Given the description of an element on the screen output the (x, y) to click on. 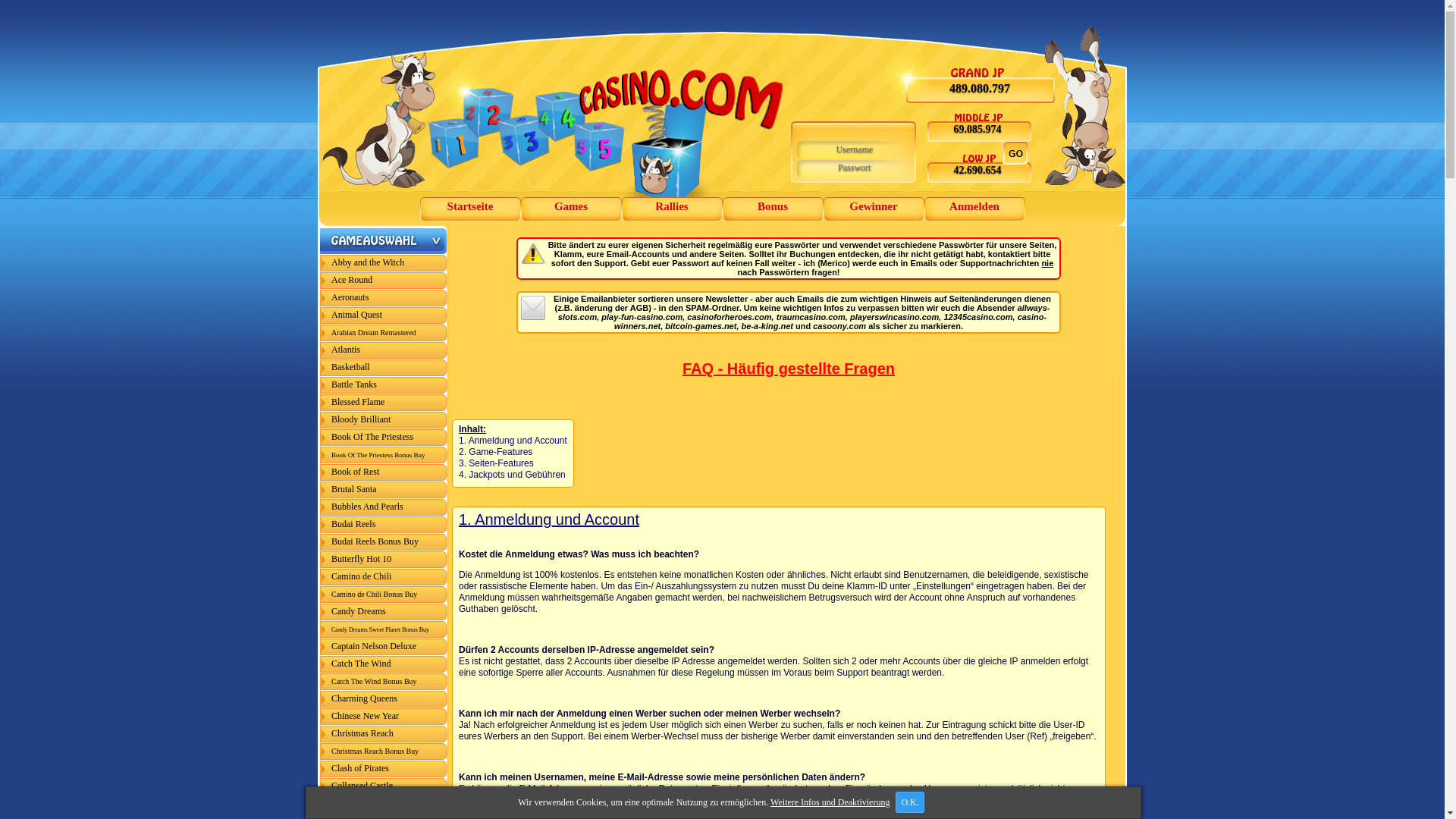
Budai Reels Element type: text (383, 524)
Aeronauts Element type: text (383, 297)
O.K. Element type: text (909, 801)
2. Game-Features Element type: text (495, 451)
Games Element type: text (570, 209)
Budai Reels Bonus Buy Element type: text (383, 541)
Bloody Brilliant Element type: text (383, 419)
Catch The Wind Element type: text (383, 663)
Book Of The Priestess Bonus Buy Element type: text (383, 454)
Arabian Dream Remastered Element type: text (383, 332)
Gewinner Element type: text (873, 209)
Candy Dreams Element type: text (383, 611)
Anmelden Element type: text (973, 209)
Blessed Flame Element type: text (383, 402)
Abby and the Witch Element type: text (383, 262)
Animal Quest Element type: text (383, 315)
Bubbles And Pearls Element type: text (383, 506)
Christmas Reach Element type: text (383, 733)
Charming Queens Element type: text (383, 698)
Catch The Wind Bonus Buy Element type: text (383, 681)
Clash of Pirates Element type: text (383, 768)
Christmas Reach Bonus Buy Element type: text (383, 751)
Battle Tanks Element type: text (383, 384)
Bonus Element type: text (771, 209)
Collapsed Castle Bonus Buy Element type: text (383, 803)
Camino de Chili Element type: text (383, 576)
1. Anmeldung und Account Element type: text (548, 519)
Ace Round Element type: text (383, 280)
Startseite Element type: text (470, 209)
Chinese New Year Element type: text (383, 716)
Atlantis Element type: text (383, 350)
Rallies Element type: text (671, 209)
Collapsed Castle Element type: text (383, 786)
Book Of The Priestess Element type: text (383, 437)
Butterfly Hot 10 Element type: text (383, 559)
Book of Rest Element type: text (383, 472)
Basketball Element type: text (383, 367)
Weitere Infos und Deaktivierung Element type: text (829, 802)
Camino de Chili Bonus Buy Element type: text (383, 594)
3. Seiten-Features Element type: text (495, 463)
Captain Nelson Deluxe Element type: text (383, 646)
Candy Dreams Sweet Planet Bonus Buy Element type: text (383, 629)
1. Anmeldung und Account Element type: text (512, 440)
Brutal Santa Element type: text (383, 489)
